Given the description of an element on the screen output the (x, y) to click on. 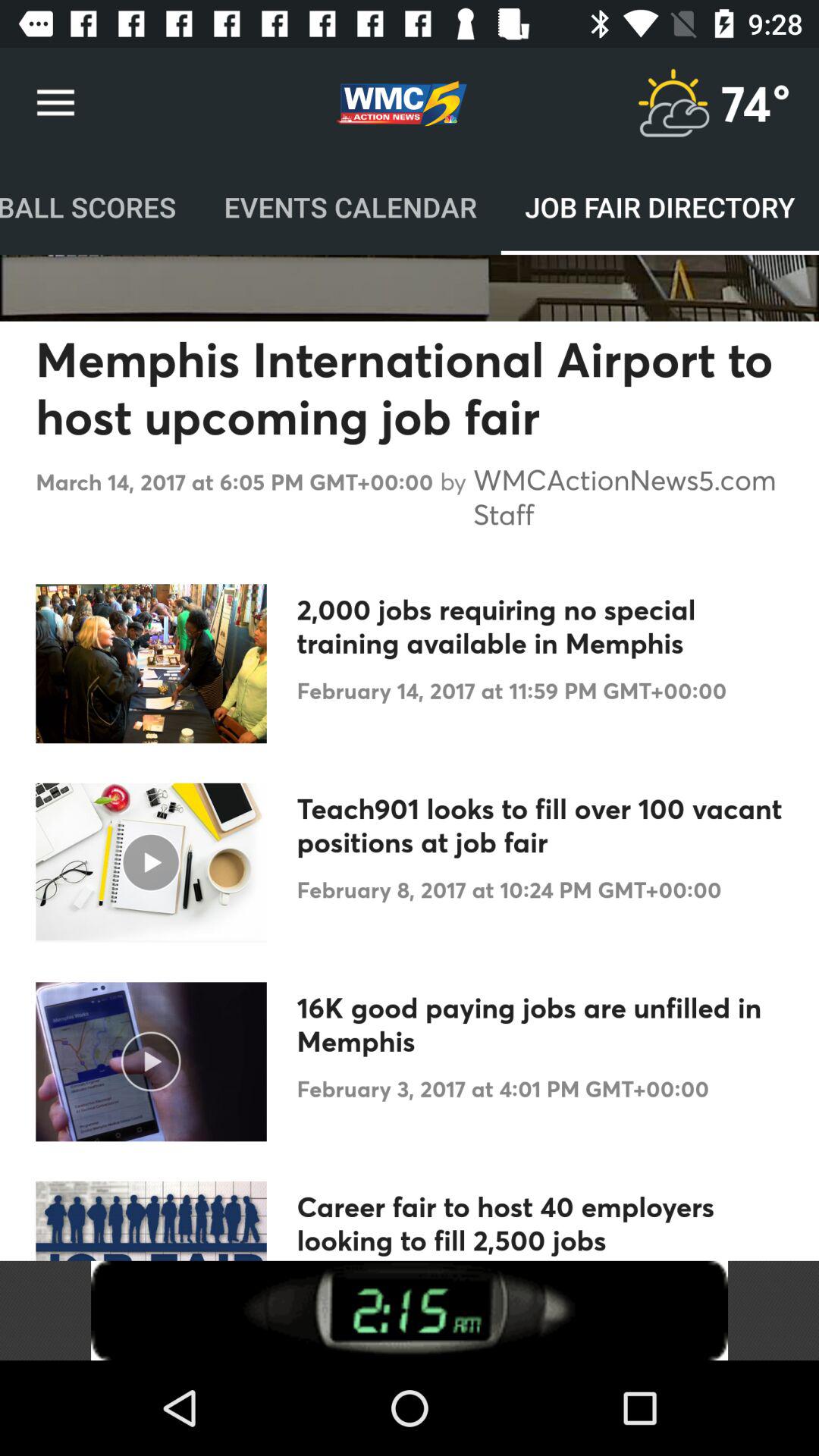
show weather forecast (673, 103)
